Given the description of an element on the screen output the (x, y) to click on. 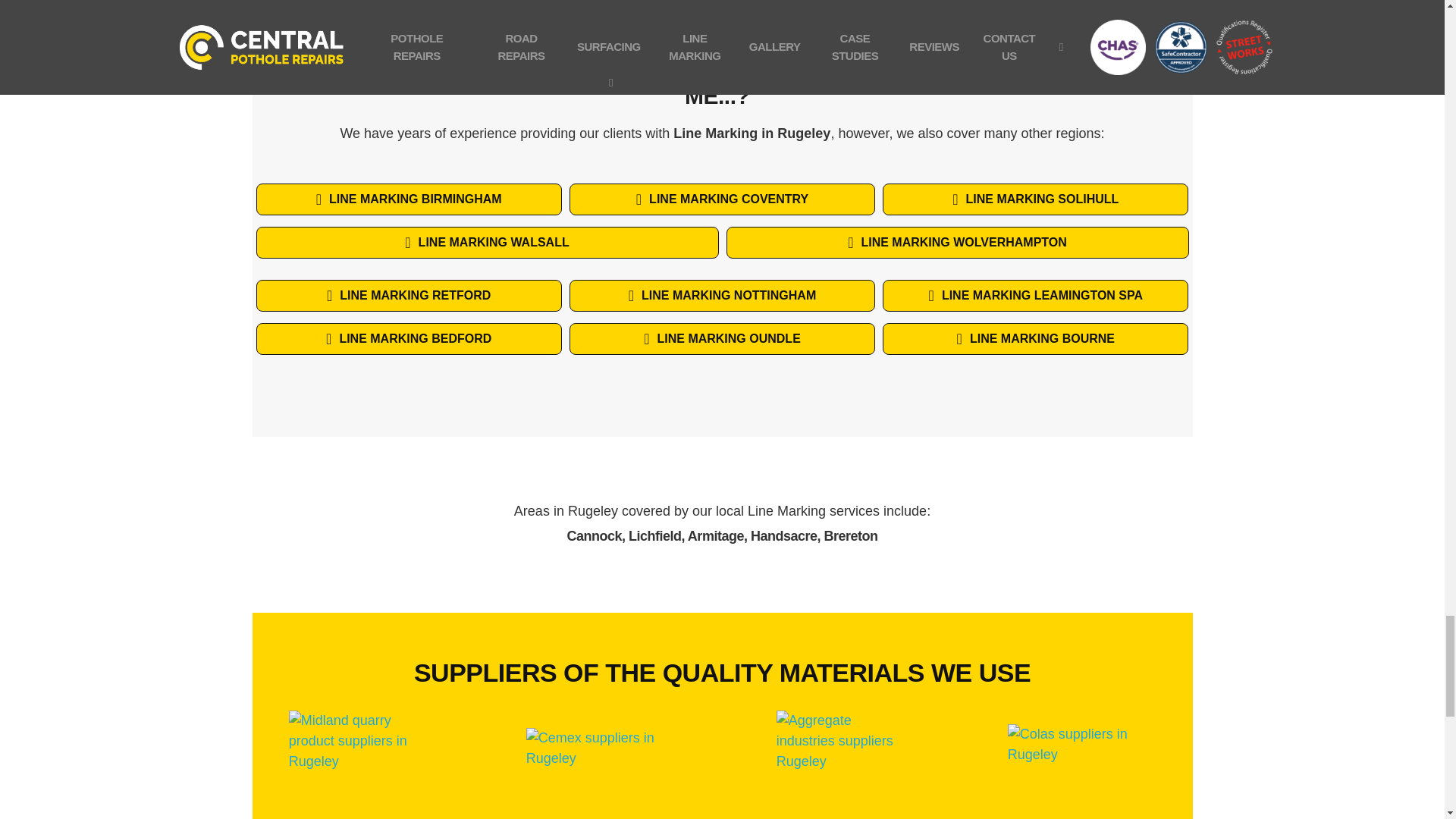
Cemex suppliers in Rugeley (601, 748)
SUPPLIERS OF THE QUALITY MATERIALS WE USE (721, 677)
Aggregate industries suppliers Rugeley (842, 748)
Midland quarry product suppliers in Rugeley (360, 748)
